Given the description of an element on the screen output the (x, y) to click on. 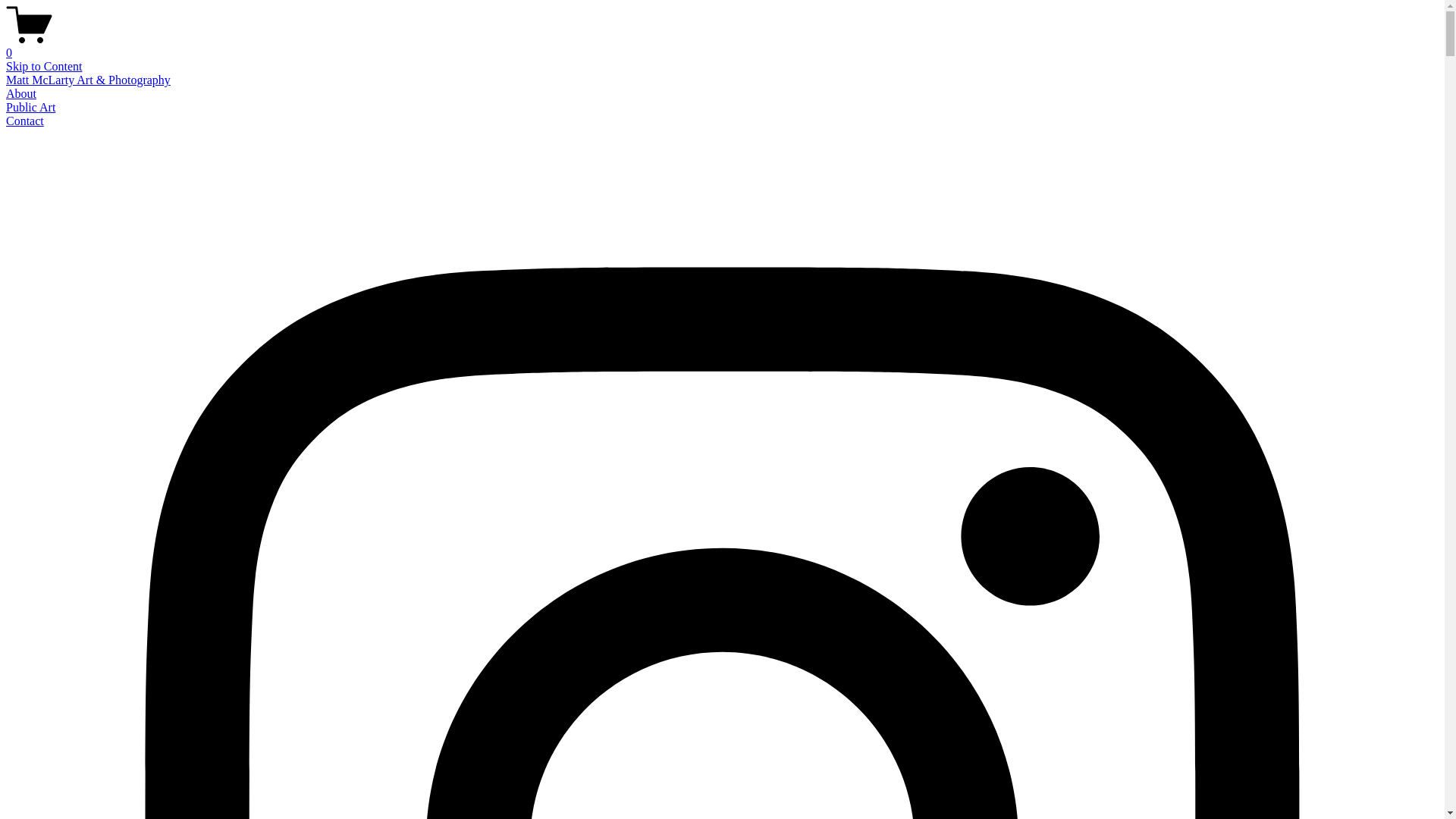
Matt McLarty Art & Photography Element type: text (88, 79)
Skip to Content Element type: text (43, 65)
Public Art Element type: text (30, 106)
About Element type: text (21, 93)
0 Element type: text (722, 45)
Contact Element type: text (24, 120)
